Given the description of an element on the screen output the (x, y) to click on. 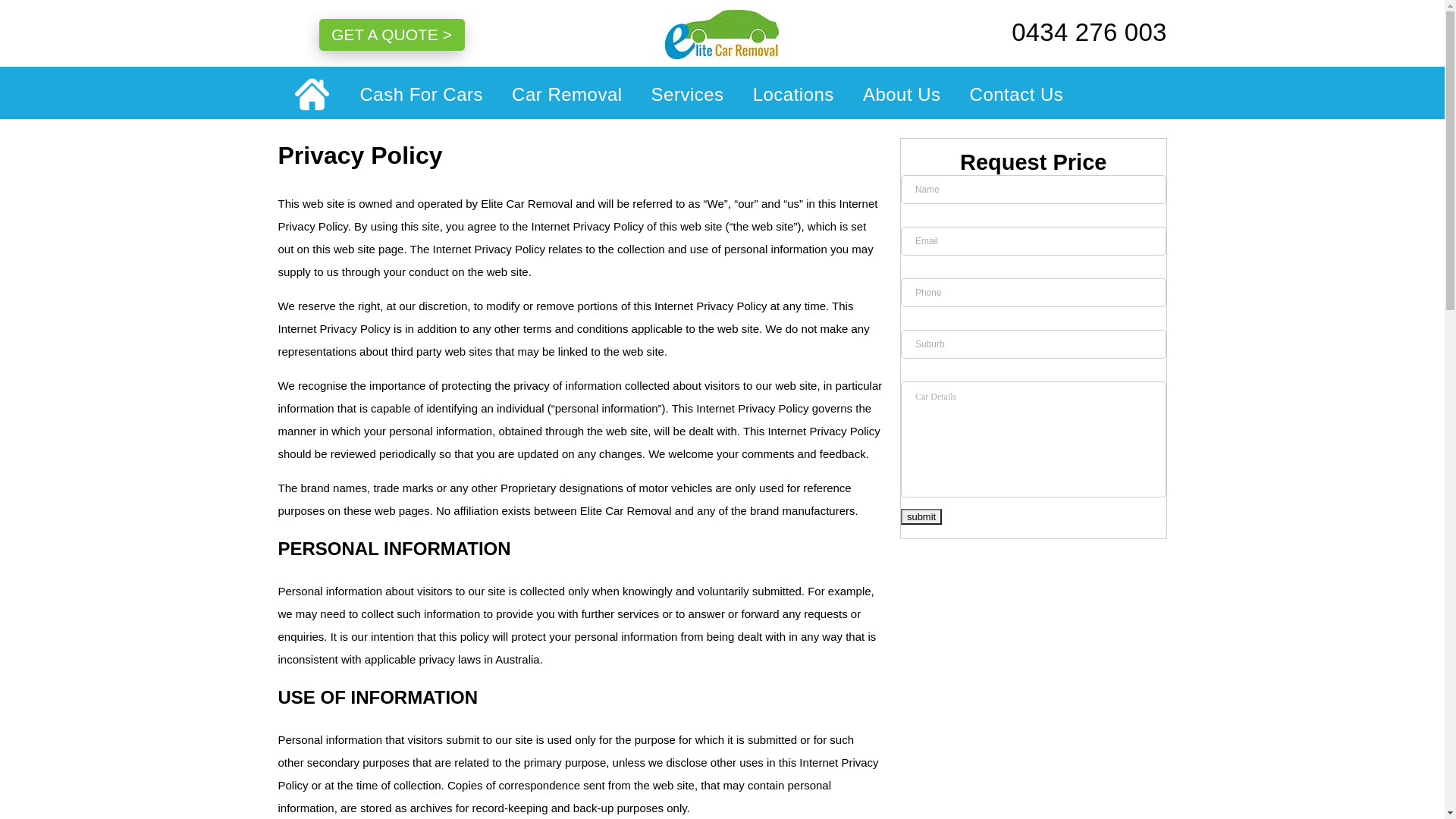
Locations Element type: text (793, 92)
Elite Car Removal Element type: hover (722, 35)
Home Element type: hover (311, 94)
submit Element type: text (920, 516)
Services Element type: text (687, 92)
Cash For Cars Element type: text (421, 92)
Contact Us Element type: text (1009, 92)
0434 276 003 Element type: text (1070, 32)
GET A QUOTE > Element type: text (391, 34)
Car Removal Element type: text (567, 92)
About Us Element type: text (901, 92)
